Given the description of an element on the screen output the (x, y) to click on. 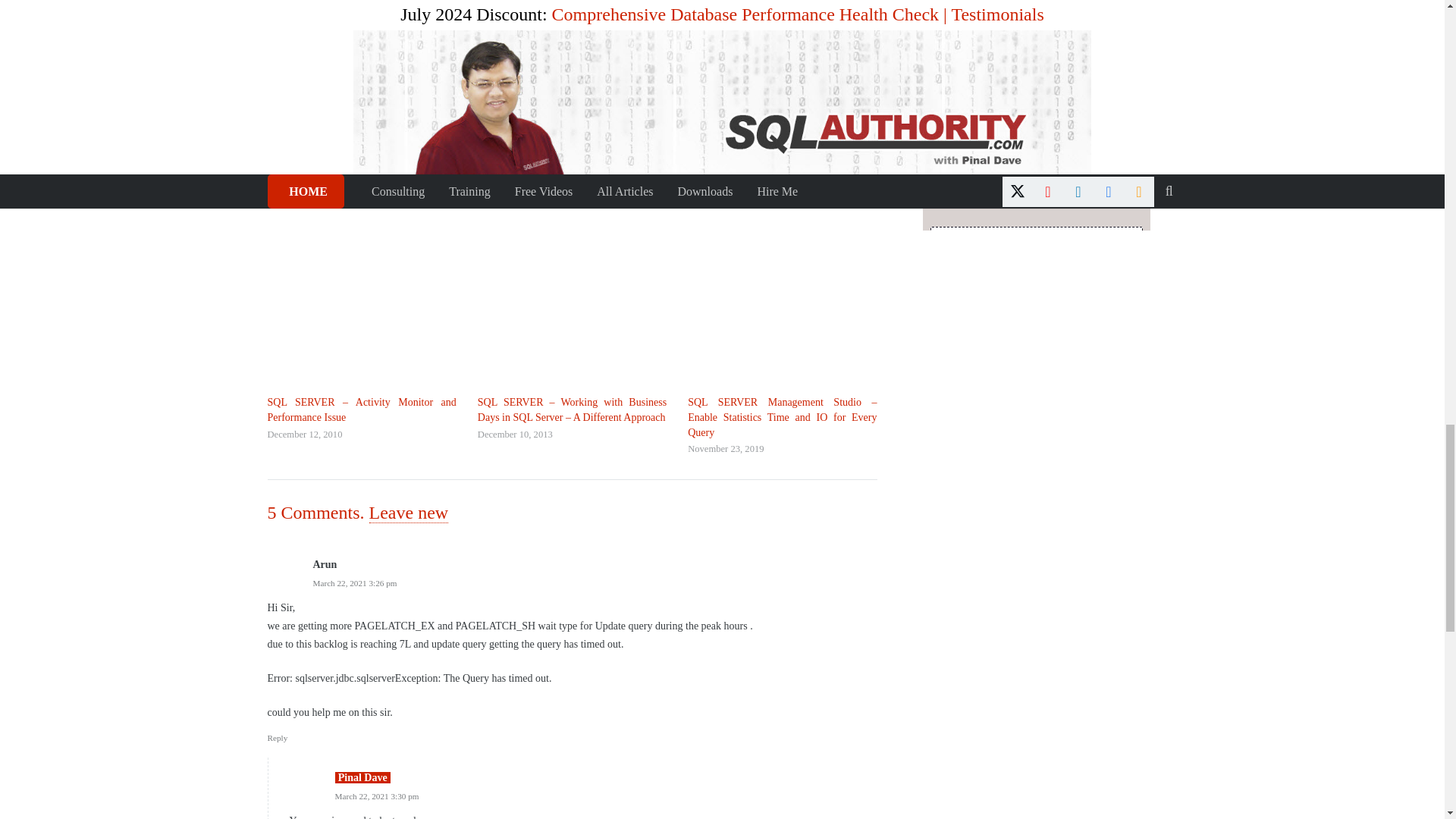
Share this (282, 6)
March 22, 2021 3:26 pm (354, 583)
Tweet this (317, 6)
March 22, 2021 3:30 pm (376, 795)
